Given the description of an element on the screen output the (x, y) to click on. 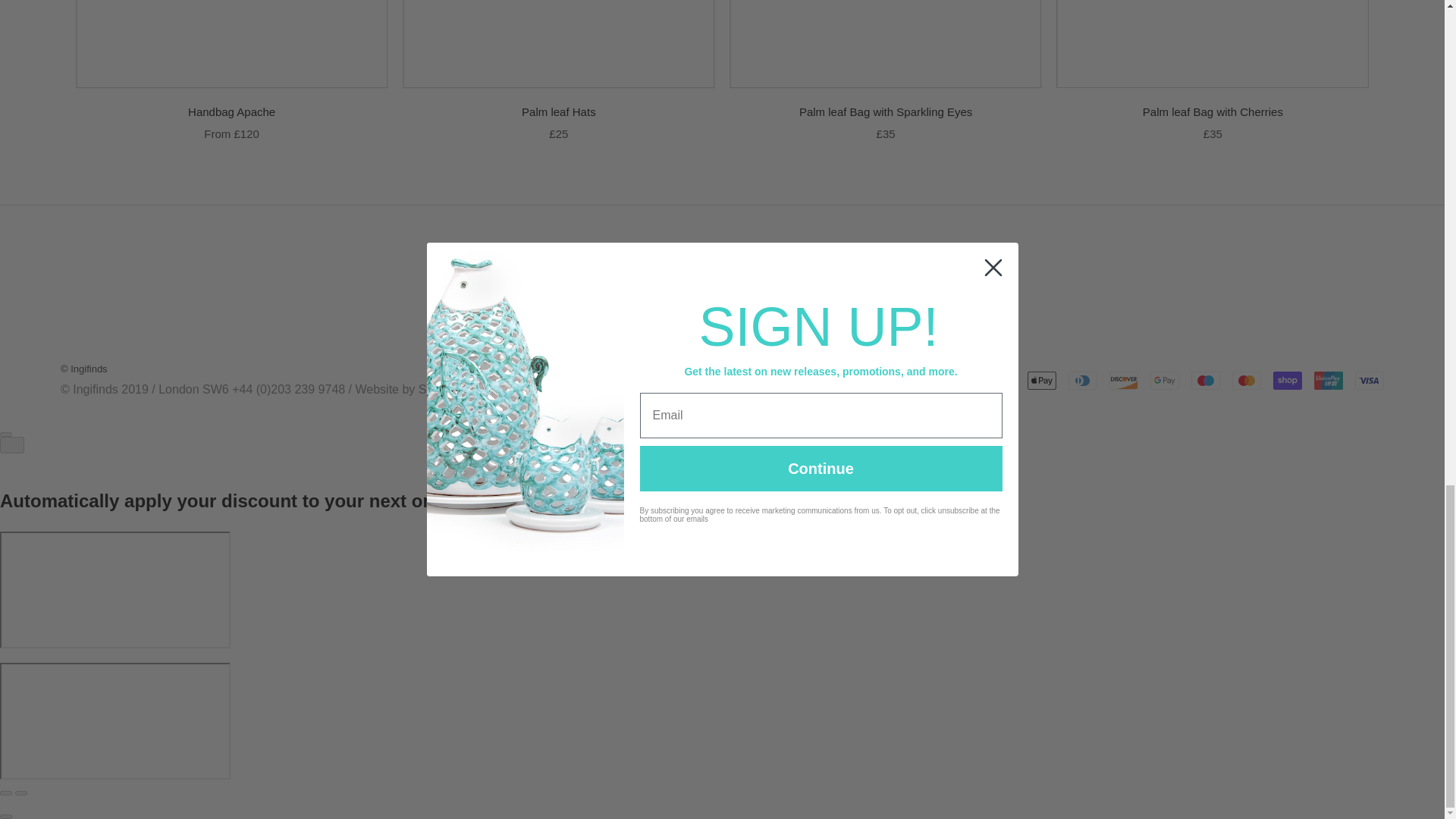
Diners Club (1082, 380)
Maestro (1205, 380)
Visa (1369, 380)
Shop Pay (1286, 380)
Google Pay (1164, 380)
Apple Pay (1042, 380)
Discover (1123, 380)
Mastercard (1245, 380)
Union Pay (1328, 380)
American Express (1000, 380)
